Given the description of an element on the screen output the (x, y) to click on. 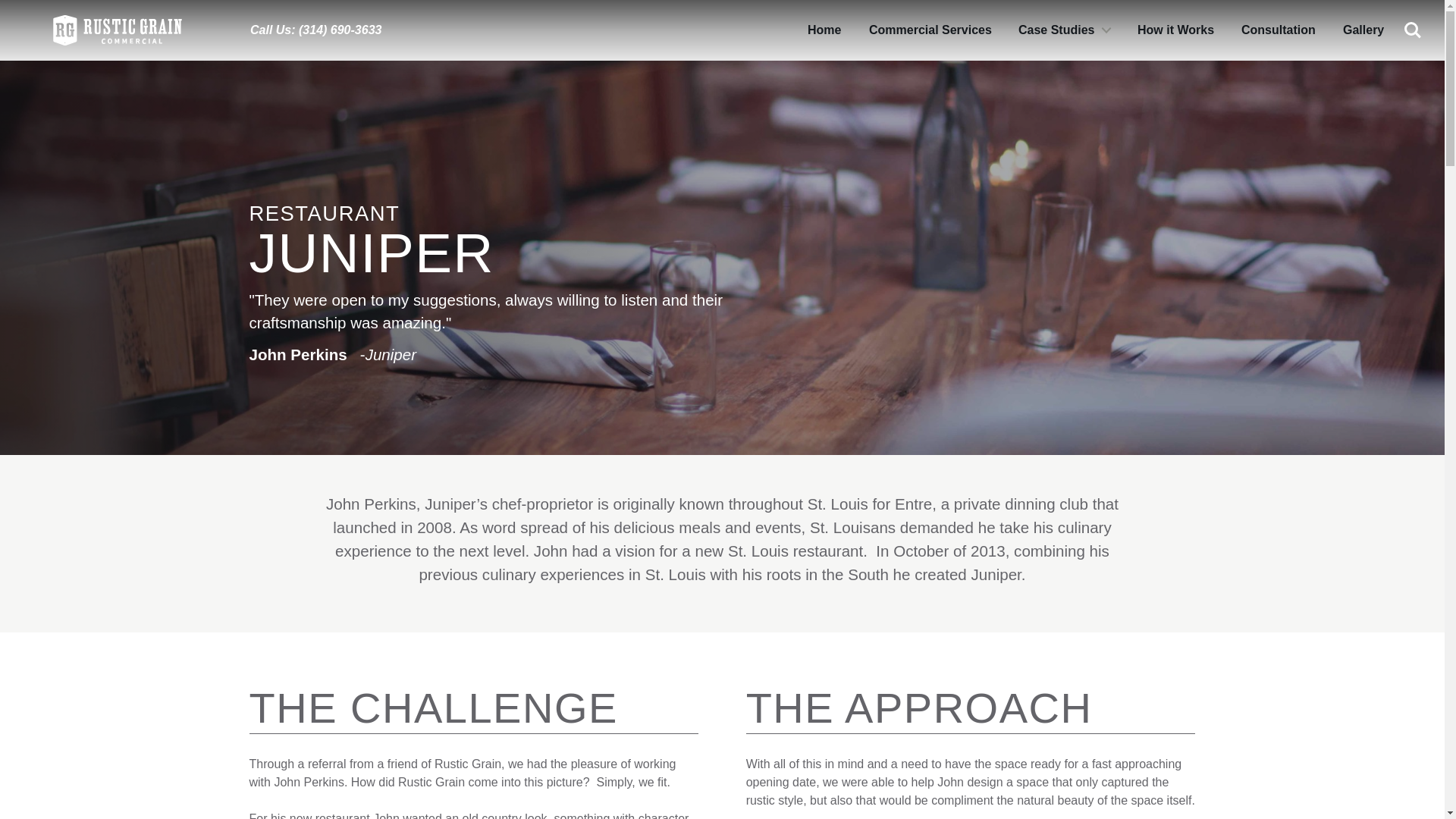
RESTAURANT (323, 213)
Case Studies (1063, 30)
How it Works (1175, 30)
Consultation (1278, 30)
Commercial Services (929, 30)
Gallery (1363, 30)
Search (1412, 29)
